Given the description of an element on the screen output the (x, y) to click on. 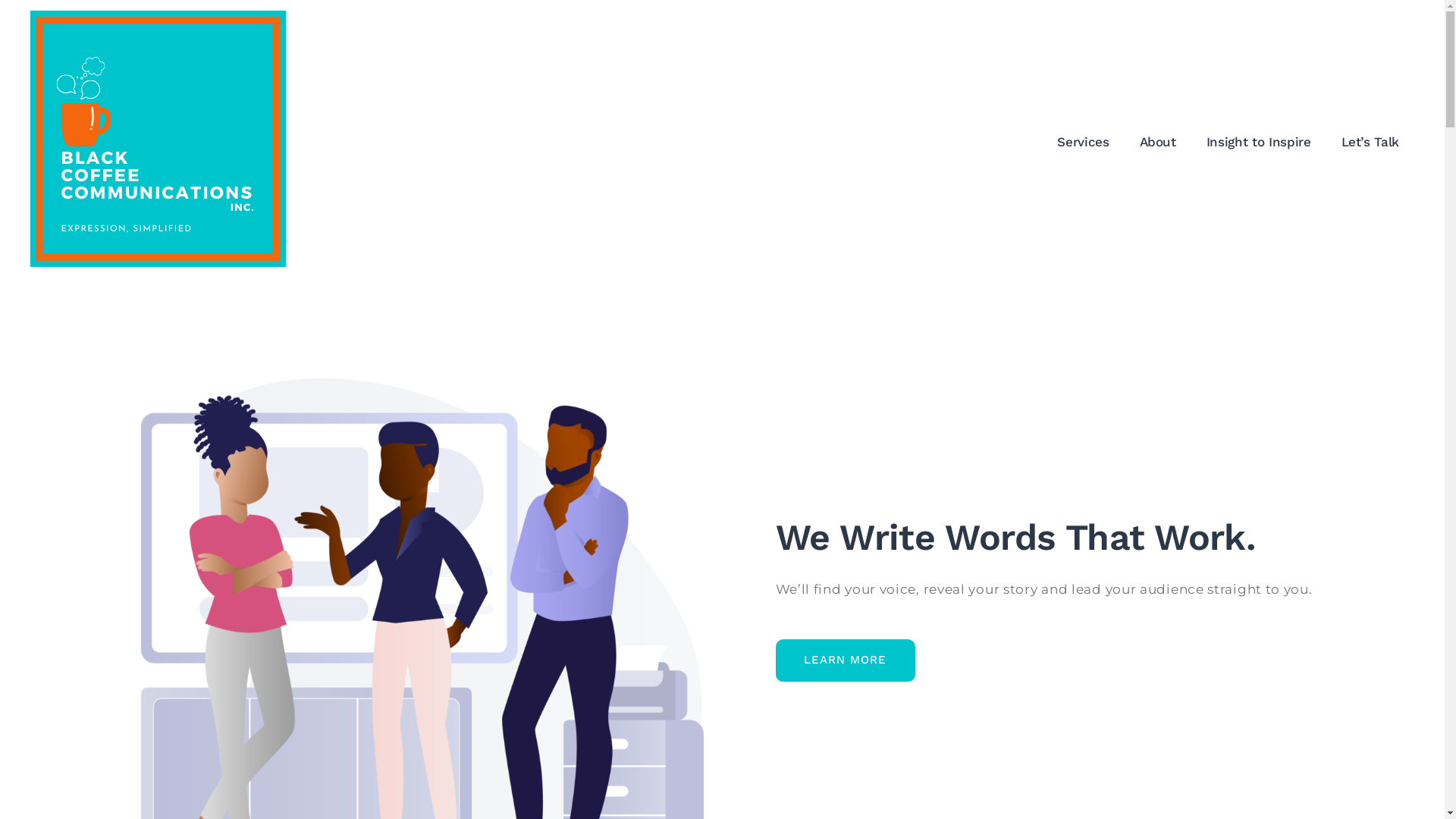
Insight to Inspire Element type: text (1258, 141)
Services Element type: text (1082, 141)
LEARN MORE Element type: text (844, 660)
About Element type: text (1157, 141)
